Given the description of an element on the screen output the (x, y) to click on. 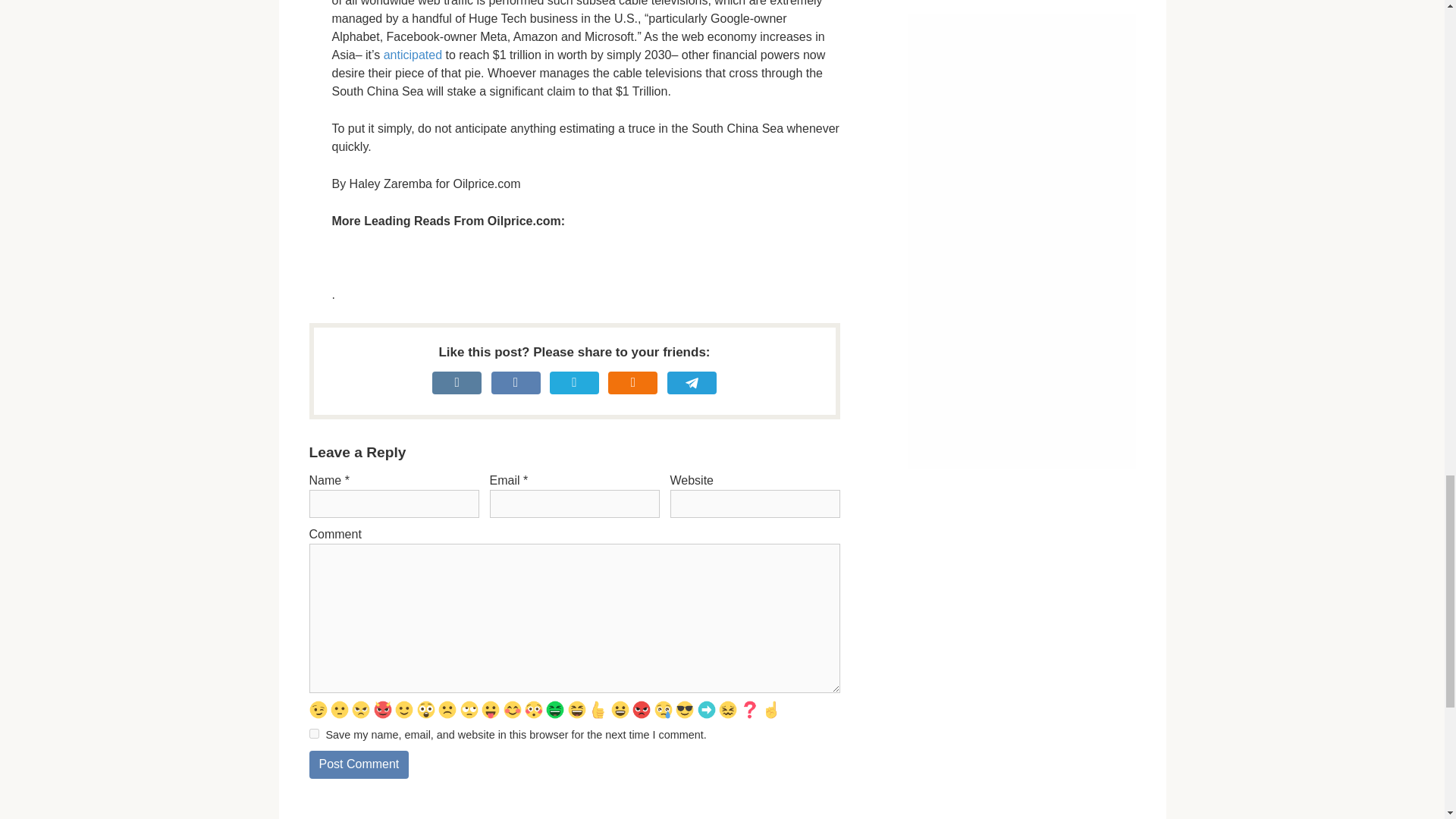
yes (313, 733)
anticipated (413, 54)
Post Comment (358, 764)
Post Comment (358, 764)
